Given the description of an element on the screen output the (x, y) to click on. 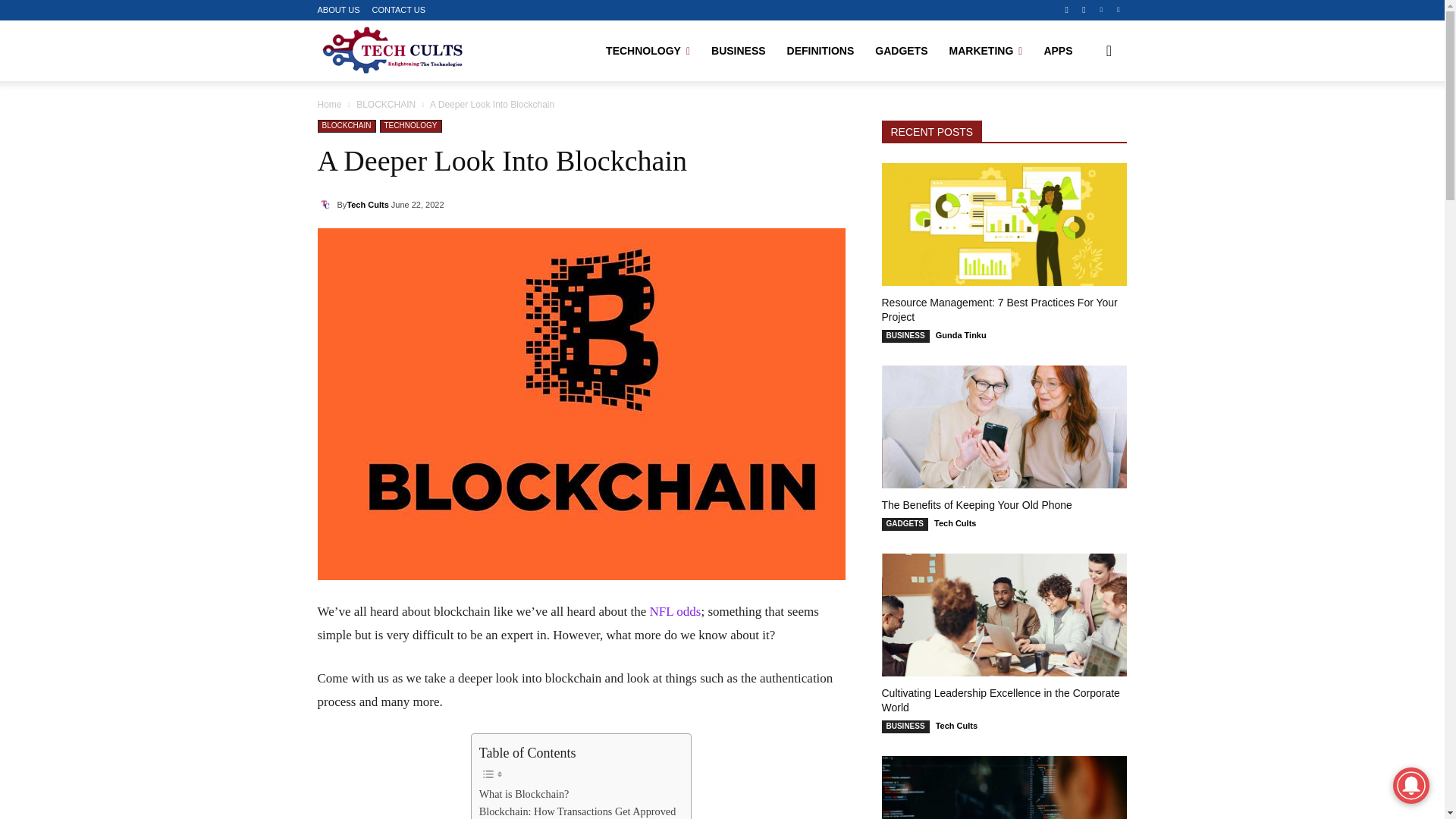
Blockchain: How Transactions Get Approved (578, 811)
CONTACT US (399, 9)
What is Blockchain? (524, 794)
ABOUT US (338, 9)
View all posts in BLOCKCHAIN (385, 104)
